Given the description of an element on the screen output the (x, y) to click on. 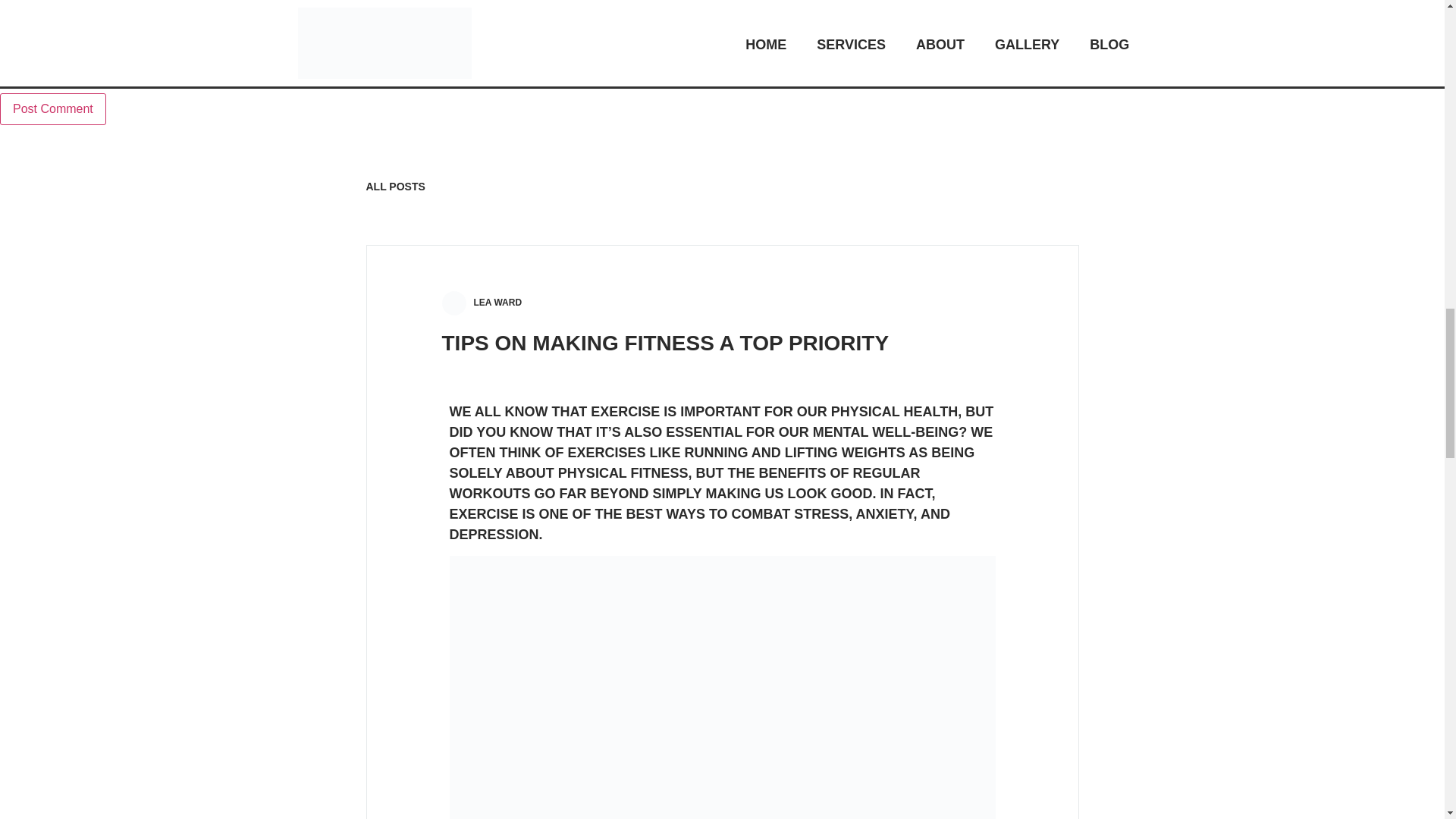
Post Comment (53, 109)
yes (5, 71)
ALL POSTS (395, 186)
Post Comment (53, 109)
